Given the description of an element on the screen output the (x, y) to click on. 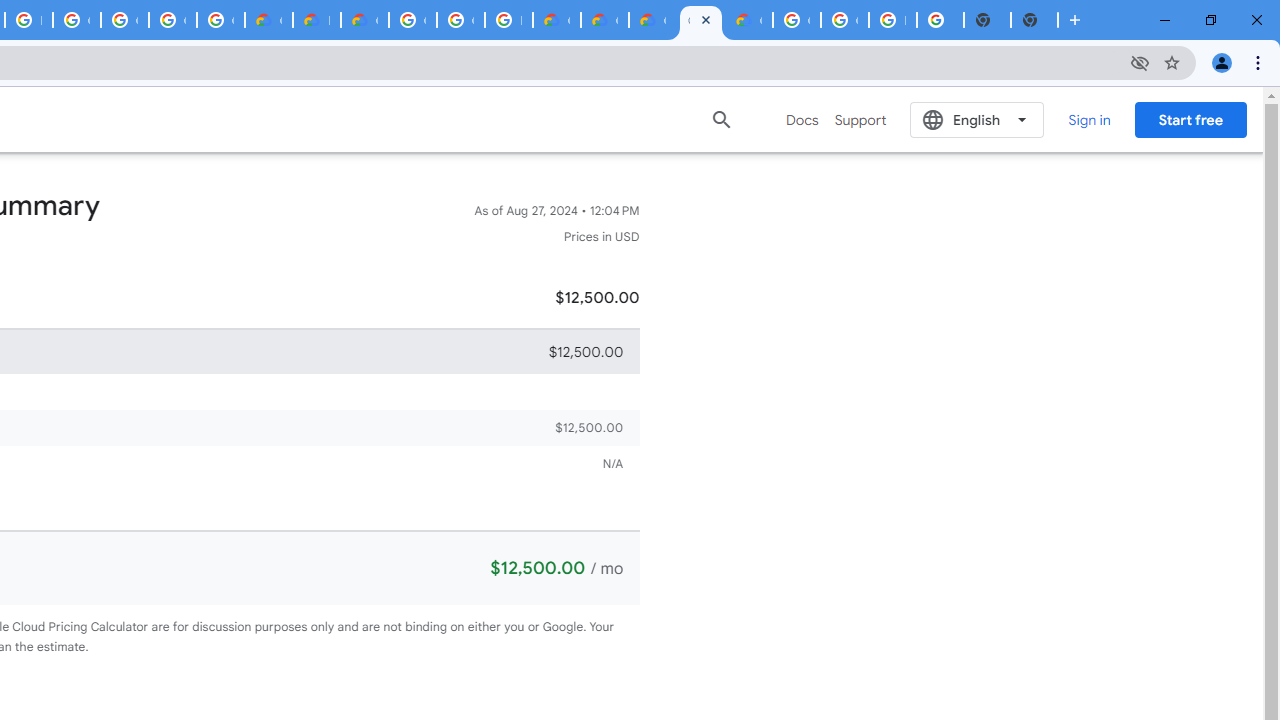
Docs (802, 119)
Start free (1190, 119)
Support (860, 119)
New Tab (1034, 20)
Search (722, 119)
Google Cloud Pricing Calculator (604, 20)
